Given the description of an element on the screen output the (x, y) to click on. 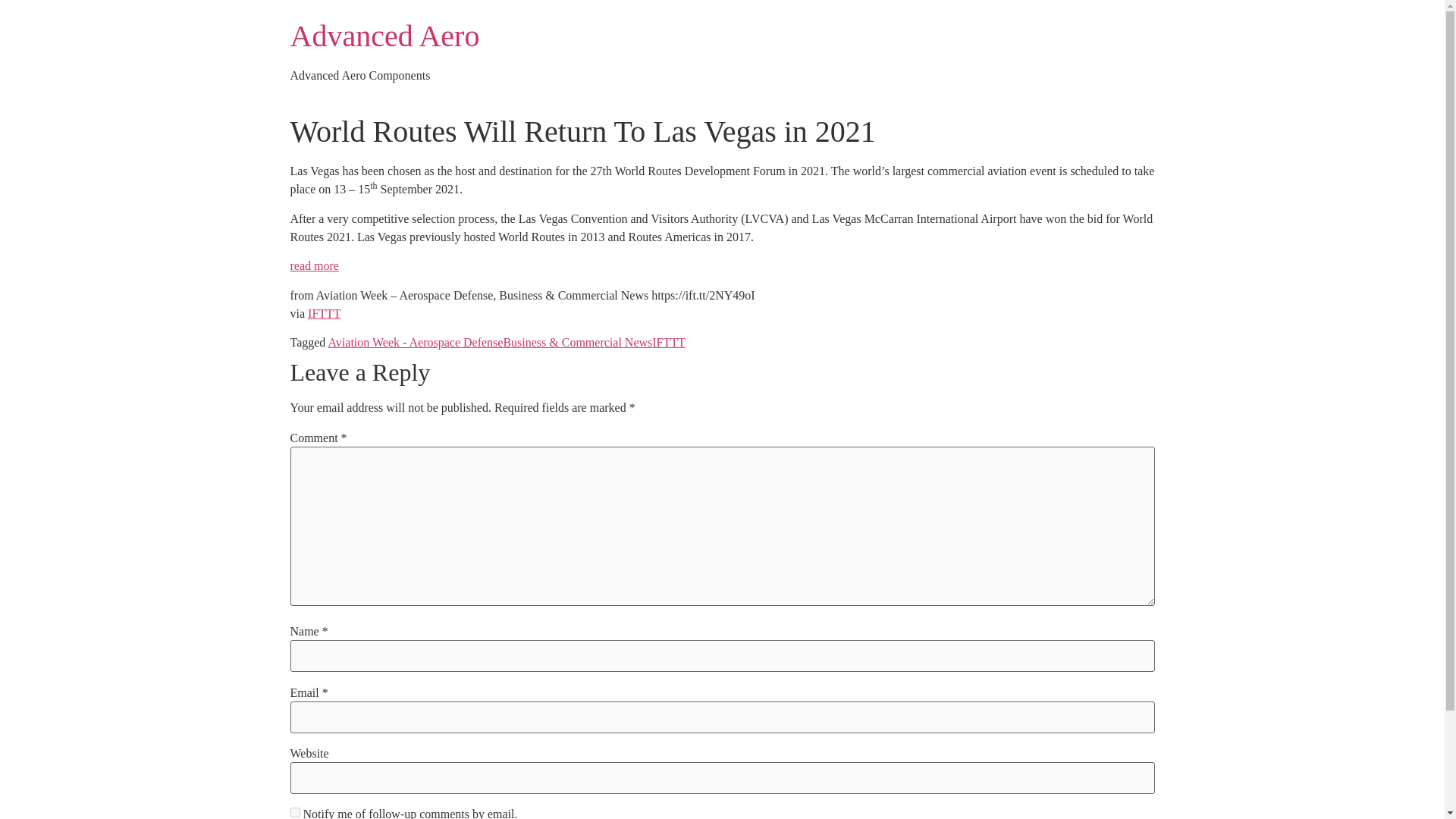
Advanced Aero (384, 35)
Aviation Week - Aerospace Defense (414, 341)
read more (313, 265)
IFTTT (668, 341)
subscribe (294, 812)
IFTTT (323, 313)
Home (384, 35)
